Given the description of an element on the screen output the (x, y) to click on. 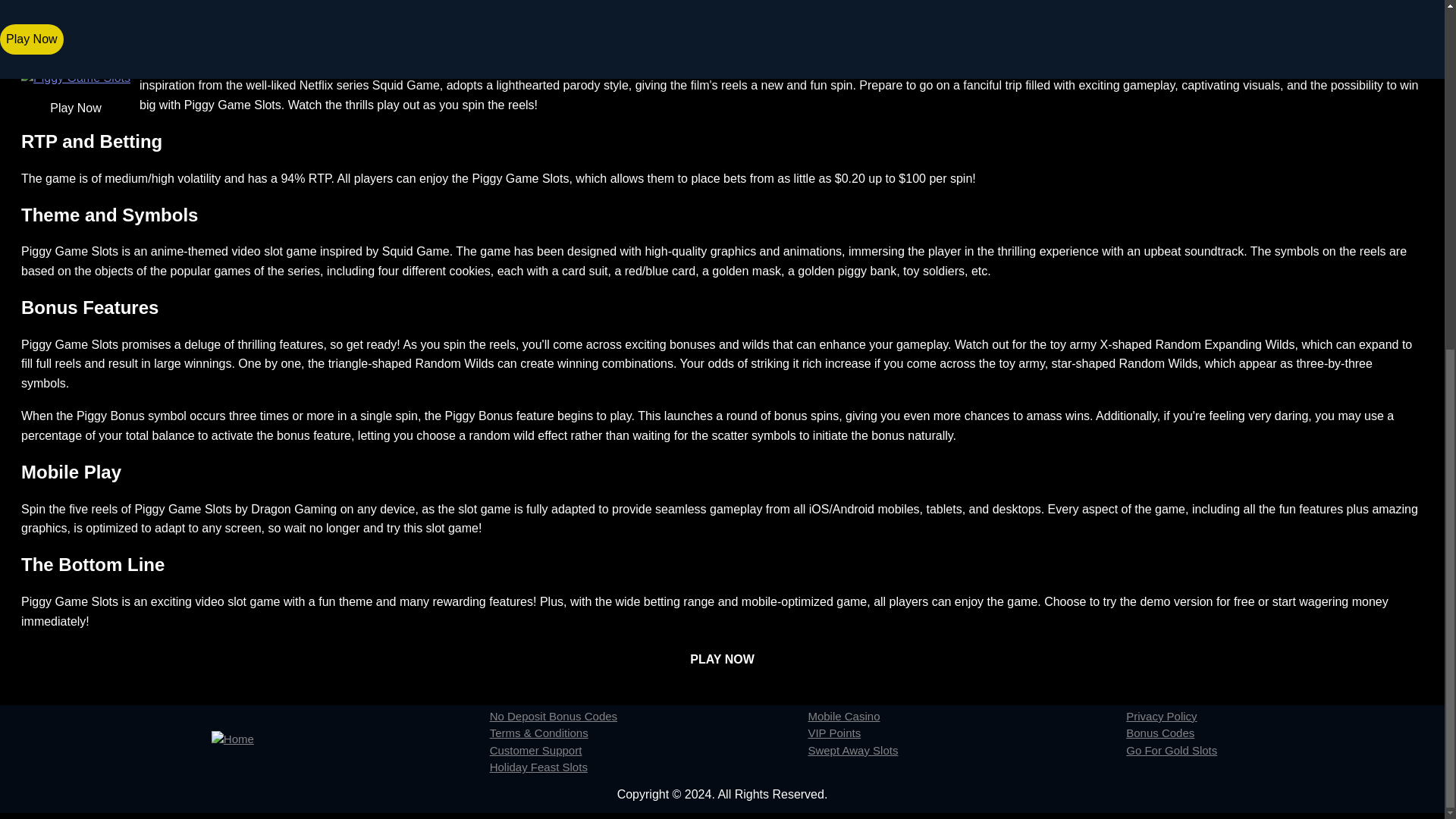
No Deposit Bonus Codes (648, 716)
Holiday Feast Slots (648, 767)
Swept Away Slots (966, 751)
VIP Points (966, 733)
Customer Support (648, 751)
Play Now (75, 108)
Mobile Casino (966, 716)
PLAY NOW (722, 659)
